Given the description of an element on the screen output the (x, y) to click on. 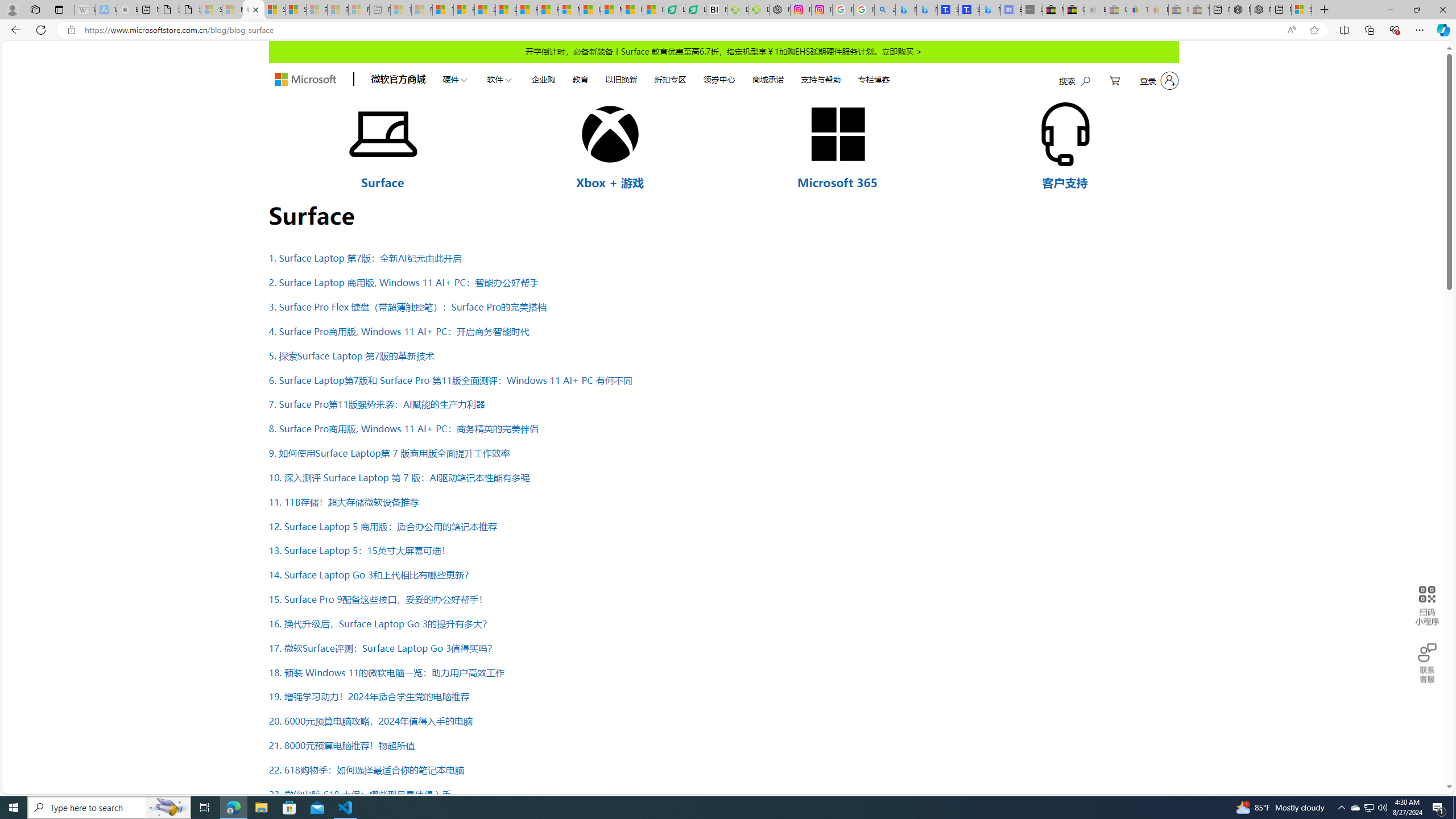
Foo BAR | Trusted Community Engagement and Contributions (547, 9)
Nordace - Summer Adventures 2024 (1259, 9)
Food and Drink - MSN (463, 9)
Microsoft (304, 79)
